Given the description of an element on the screen output the (x, y) to click on. 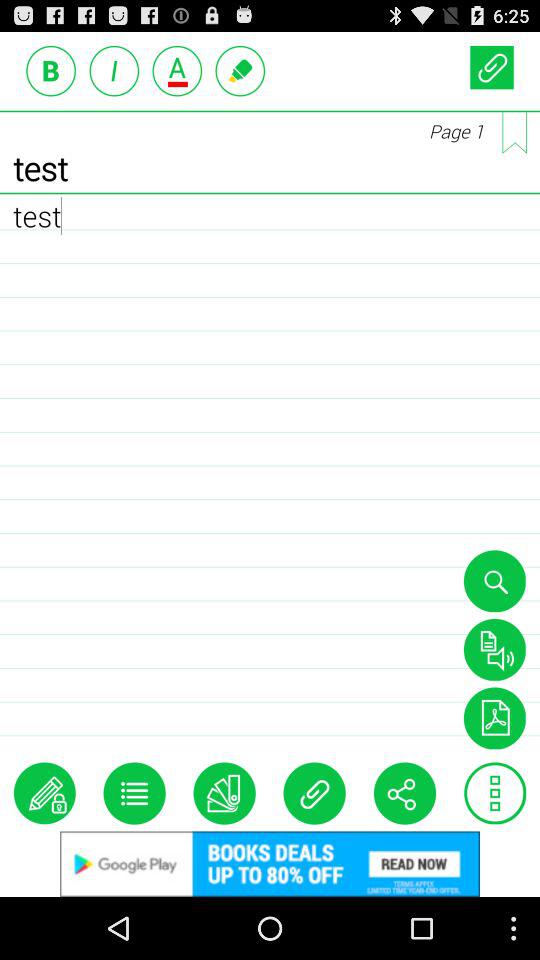
go to google play (270, 864)
